Given the description of an element on the screen output the (x, y) to click on. 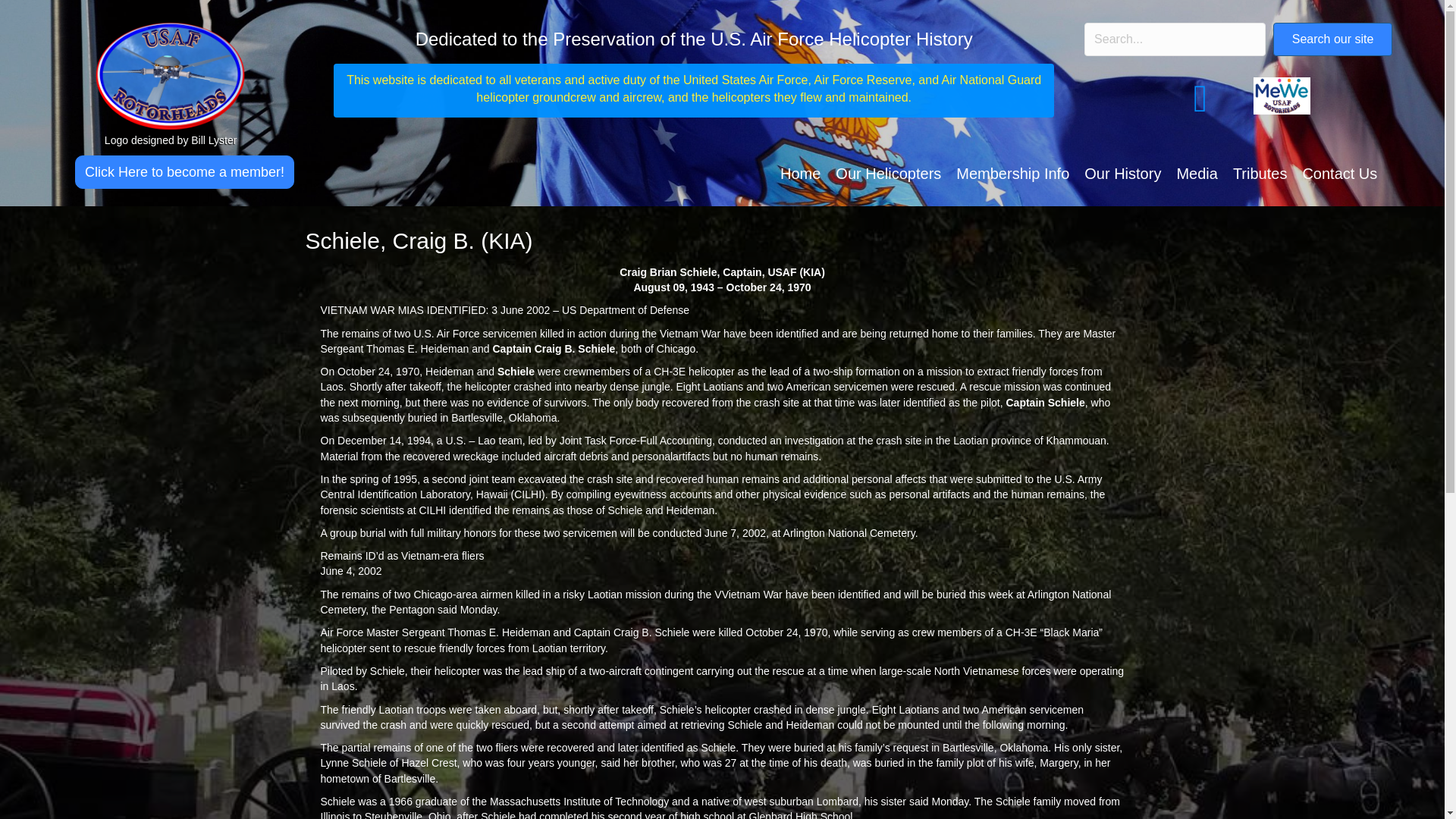
Home (800, 173)
Click Here to become a member! (184, 172)
Search our site (1332, 39)
Membership Info (1013, 173)
Our Helicopters (888, 173)
Our History (1123, 173)
